Given the description of an element on the screen output the (x, y) to click on. 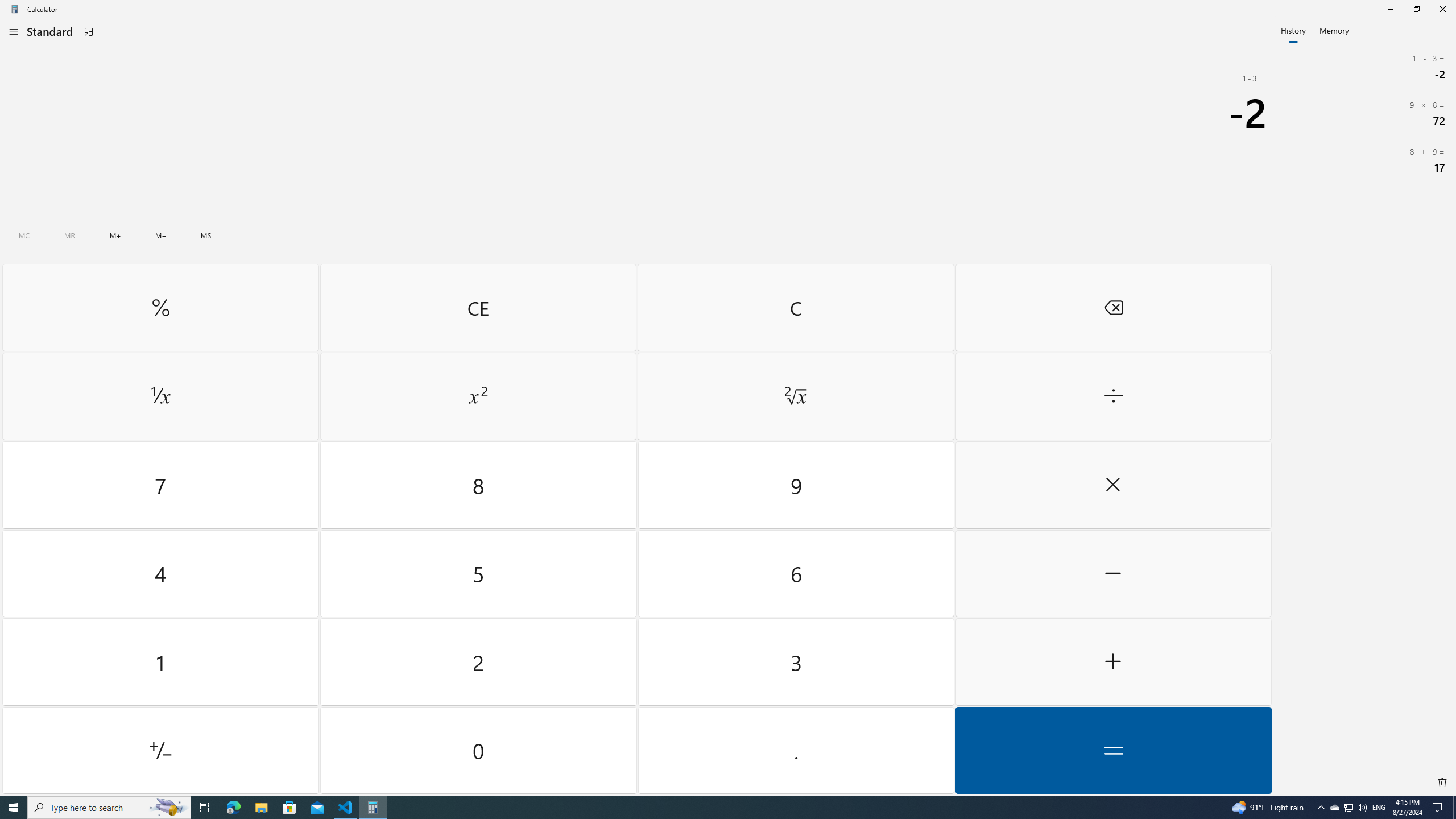
Percent (160, 307)
Divide by (1113, 396)
Restore Calculator (1416, 9)
Notification Chevron (1320, 807)
Clear all memory (24, 235)
User Promoted Notification Area (1347, 807)
Microsoft Edge (233, 807)
Minimize Calculator (1390, 9)
Running applications (706, 807)
Clear all history (1441, 782)
Five (478, 572)
Visual Studio Code - 1 running window (345, 807)
Seven (160, 485)
File Explorer (261, 807)
